Given the description of an element on the screen output the (x, y) to click on. 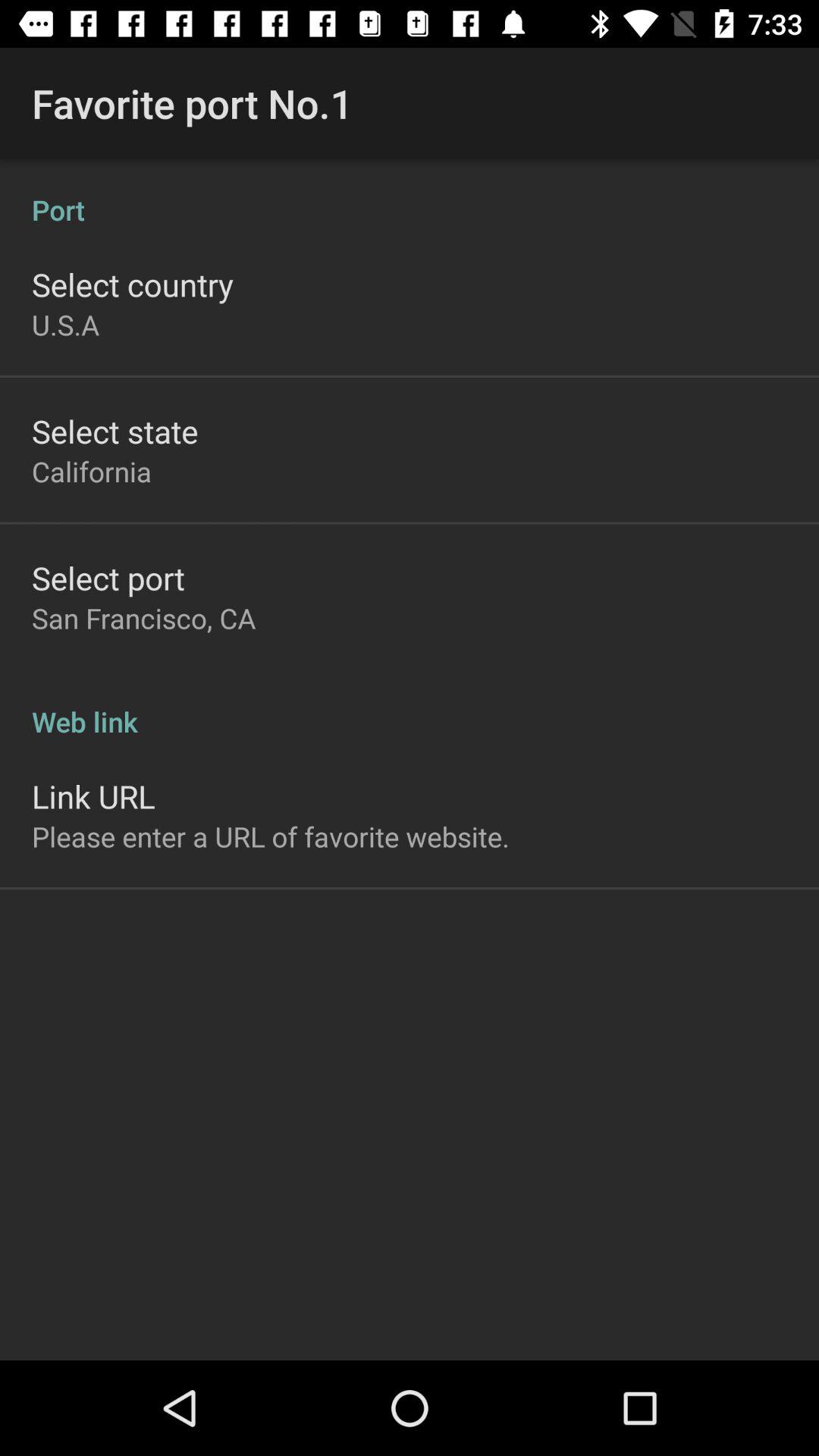
select california item (91, 471)
